Given the description of an element on the screen output the (x, y) to click on. 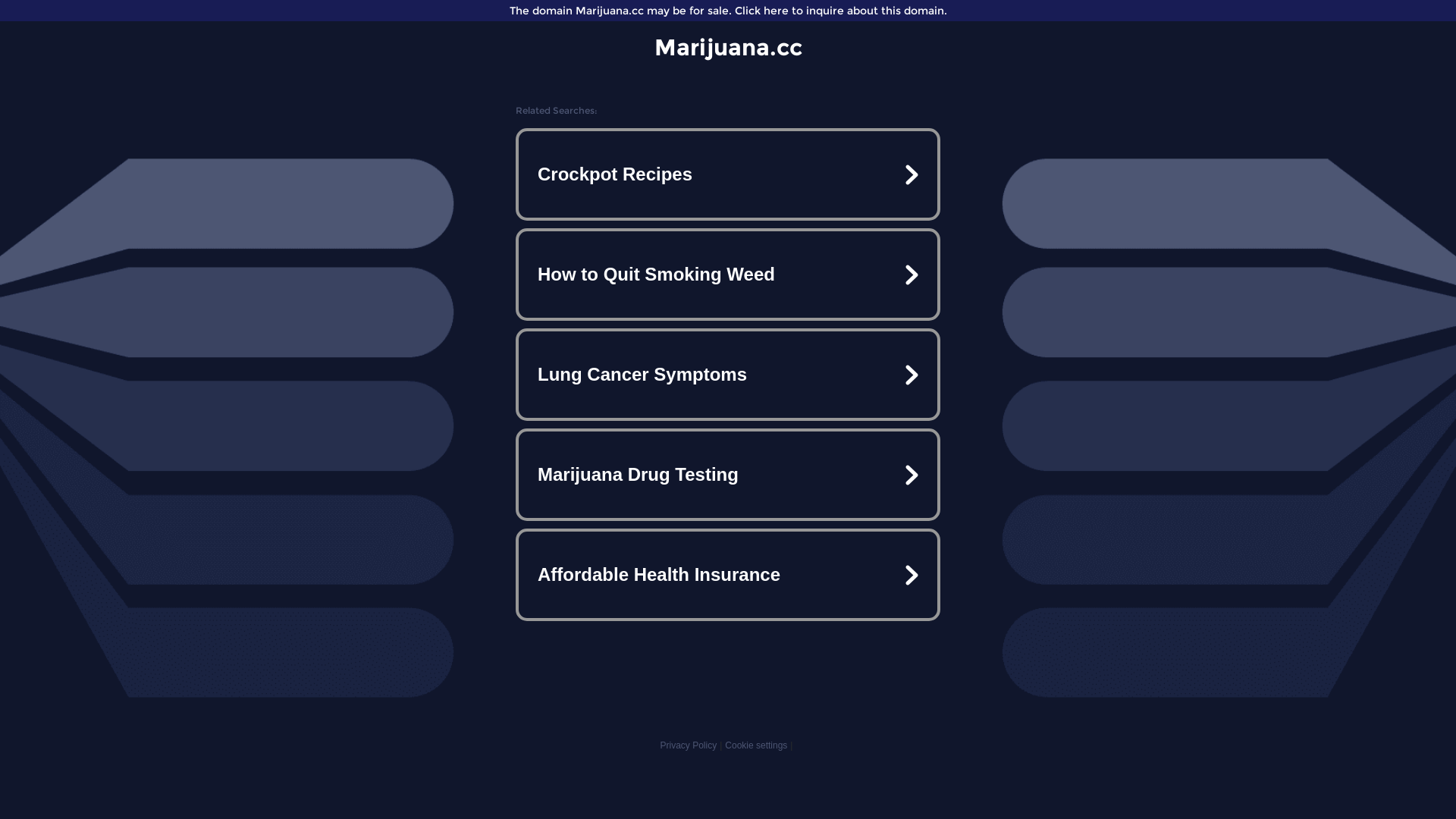
Marijuana Drug Testing Element type: text (727, 474)
Cookie settings Element type: text (755, 745)
Affordable Health Insurance Element type: text (727, 574)
Lung Cancer Symptoms Element type: text (727, 374)
Marijuana.cc Element type: text (727, 47)
Privacy Policy Element type: text (687, 745)
How to Quit Smoking Weed Element type: text (727, 274)
Crockpot Recipes Element type: text (727, 174)
